Given the description of an element on the screen output the (x, y) to click on. 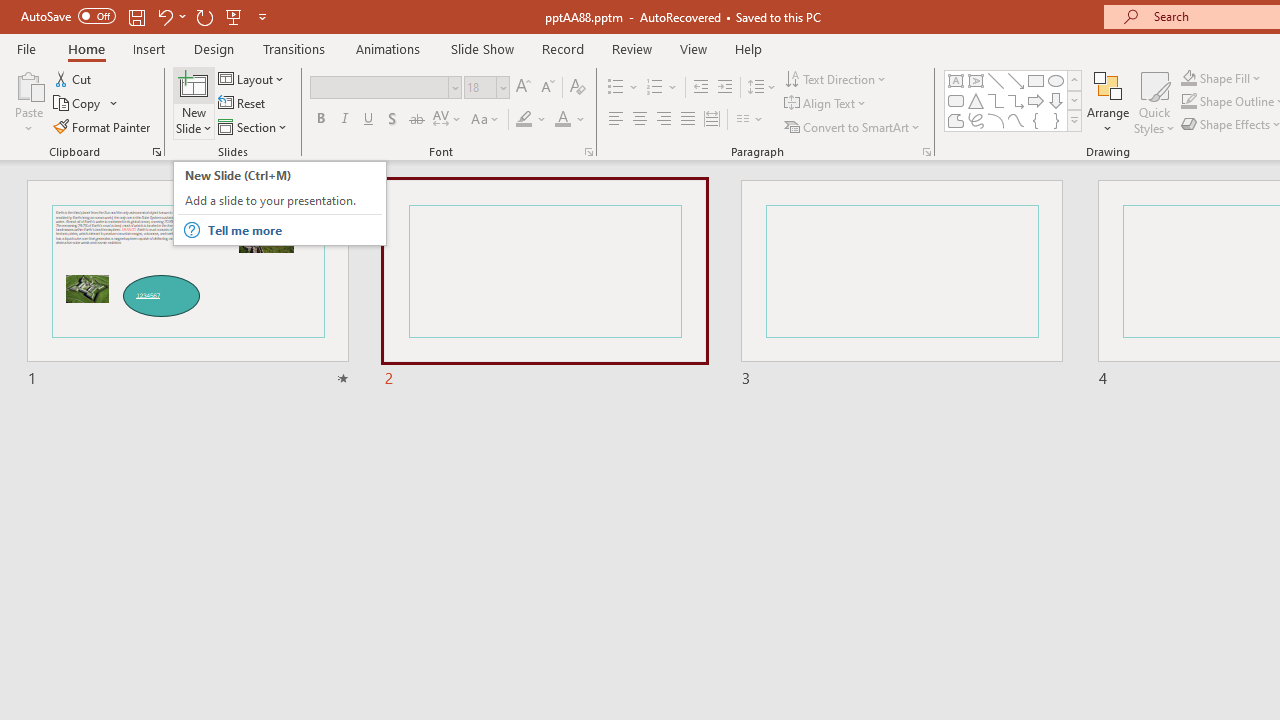
Curve (1016, 120)
Paragraph... (926, 151)
Review (631, 48)
Arrow: Right (1035, 100)
Quick Access Toolbar (145, 16)
Convert to SmartArt (853, 126)
Paste (28, 102)
Decrease Font Size (547, 87)
Character Spacing (447, 119)
Center (639, 119)
Redo (204, 15)
Font (379, 87)
Class: NetUIImage (1075, 120)
Increase Font Size (522, 87)
